Given the description of an element on the screen output the (x, y) to click on. 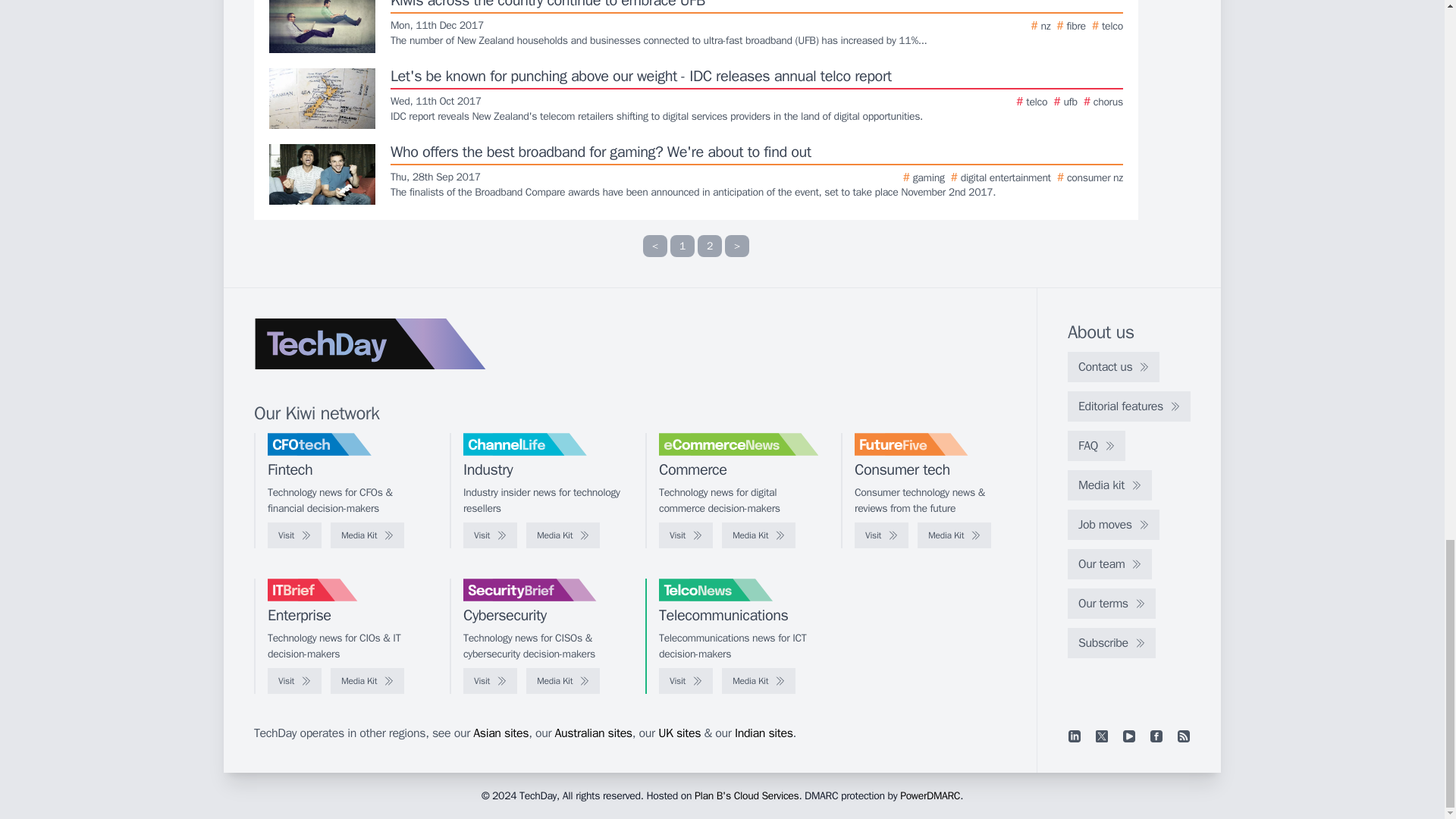
Visit (489, 534)
Media Kit (367, 534)
Visit (294, 534)
2 (709, 246)
Media Kit (562, 534)
1 (681, 246)
